Given the description of an element on the screen output the (x, y) to click on. 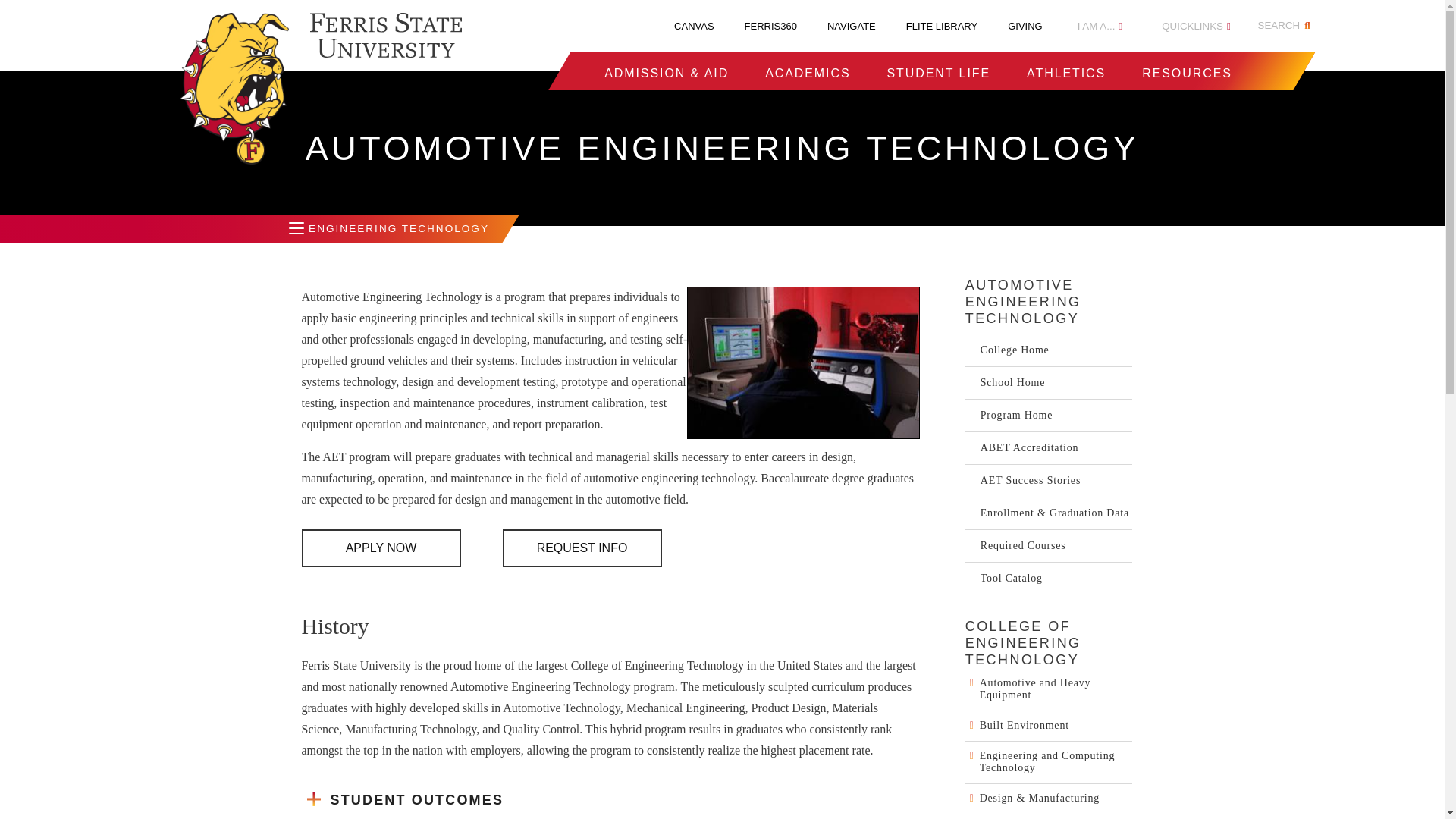
CANVAS (694, 25)
QUICKLINKS (1195, 26)
GIVING (1024, 25)
I AM A... (1099, 26)
ACADEMICS (807, 73)
FLITE LIBRARY (940, 25)
SEARCH (1285, 25)
NAVIGATE (851, 25)
FERRIS360 (770, 25)
